Given the description of an element on the screen output the (x, y) to click on. 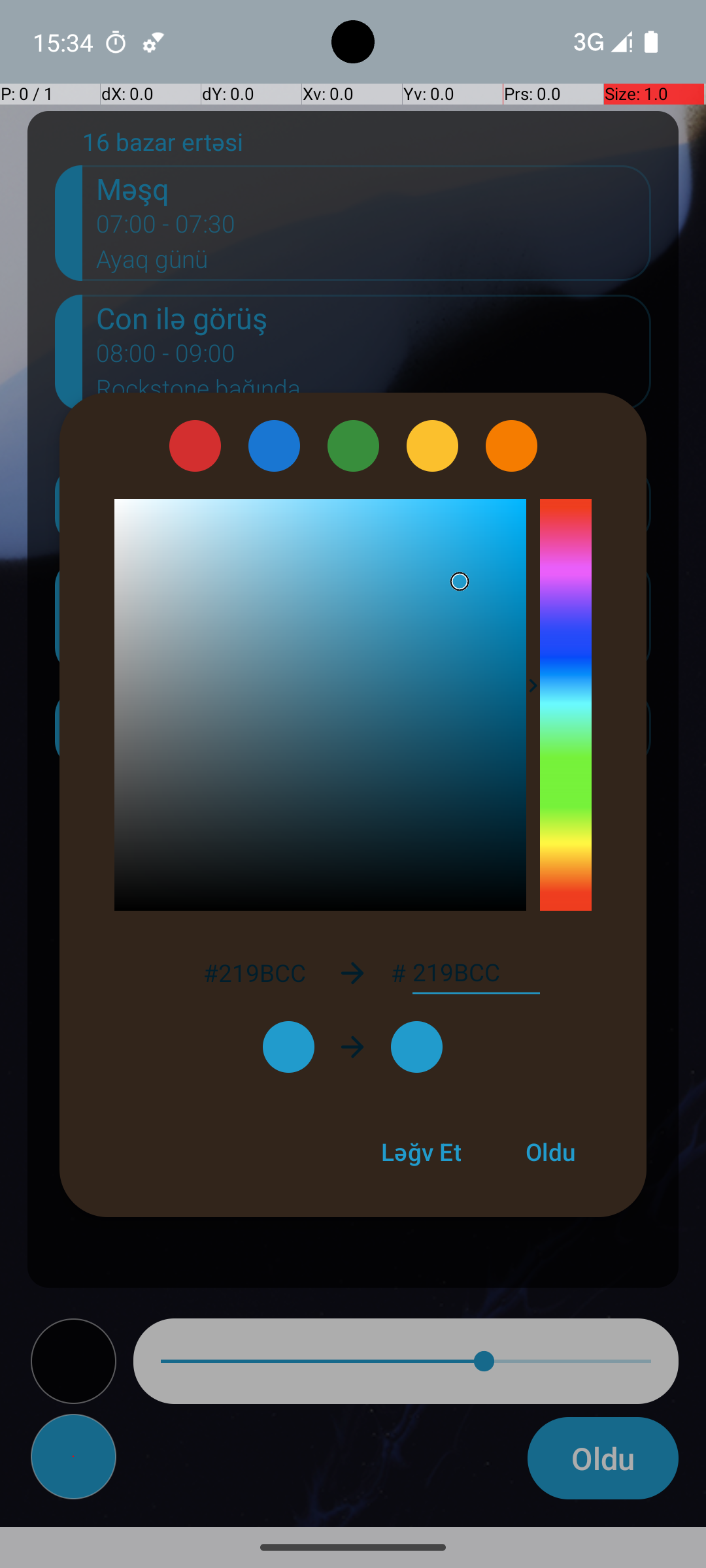
Ləğv Et Element type: android.widget.Button (420, 1151)
Oldu Element type: android.widget.Button (550, 1151)
